Given the description of an element on the screen output the (x, y) to click on. 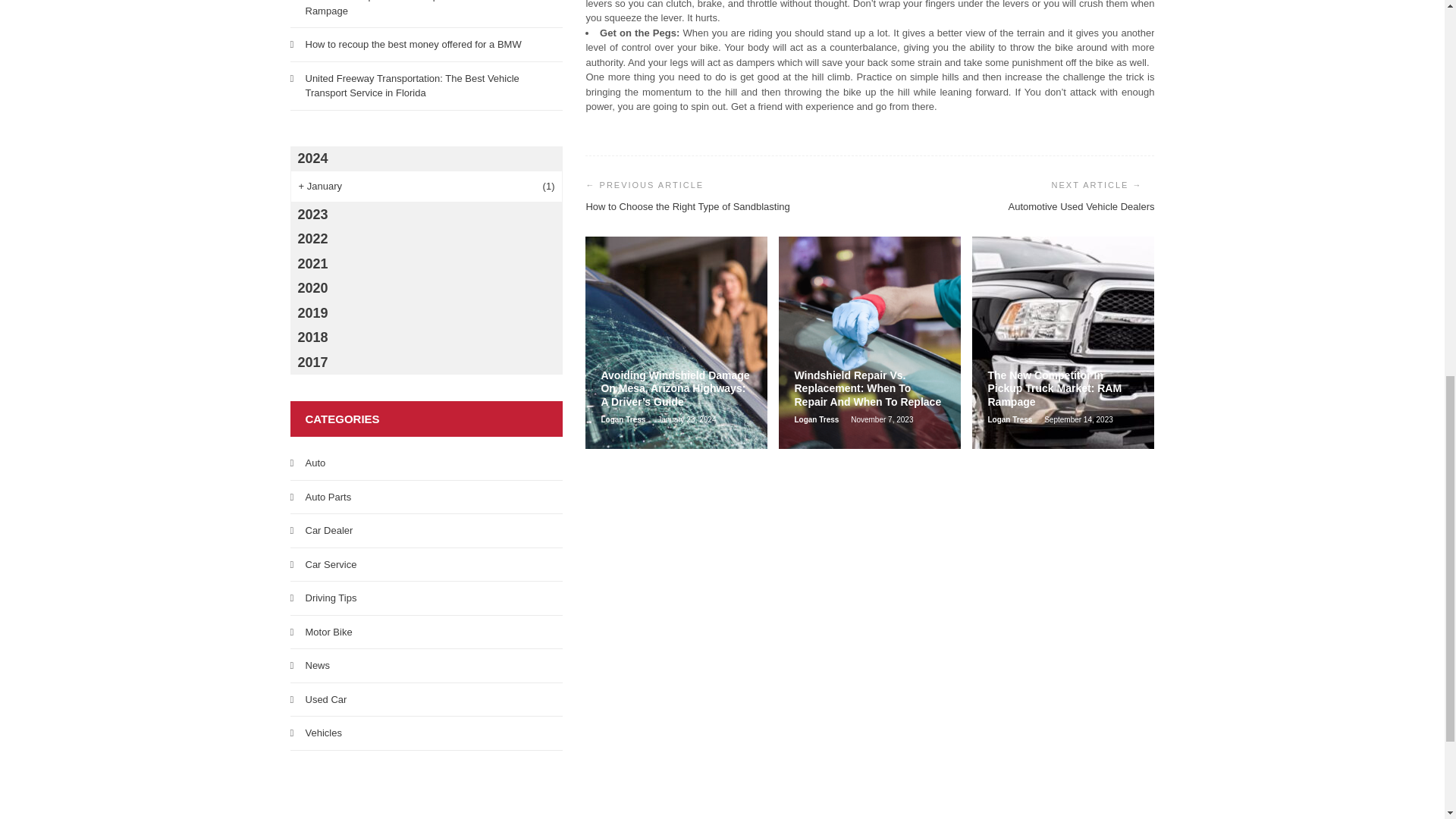
How to recoup the best money offered for a BMW (412, 43)
2023 (425, 213)
The New Competitor in Pickup Truck Market: RAM Rampage (414, 8)
2024 (425, 157)
